Given the description of an element on the screen output the (x, y) to click on. 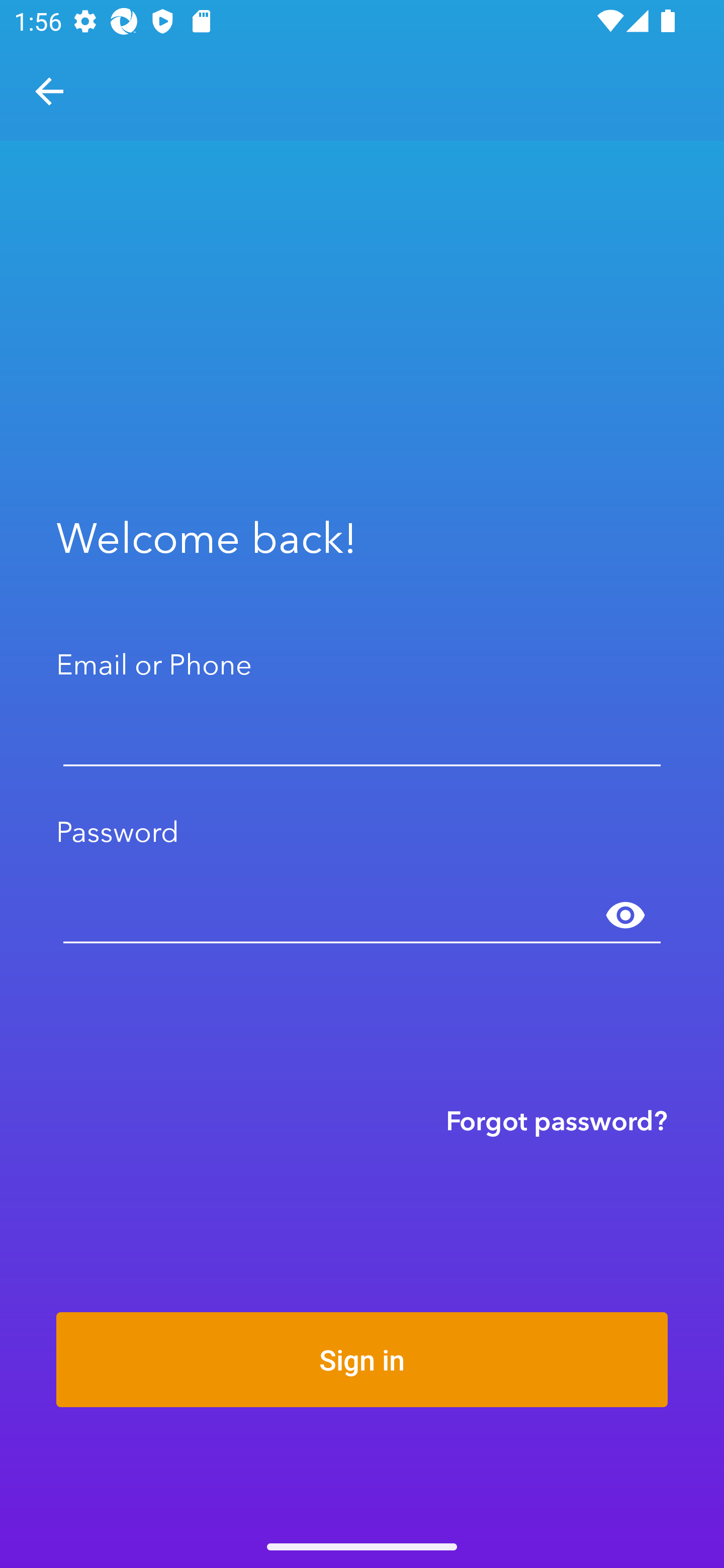
Navigate up (49, 91)
Show password (625, 915)
Forgot password? (556, 1119)
Sign in (361, 1359)
